Given the description of an element on the screen output the (x, y) to click on. 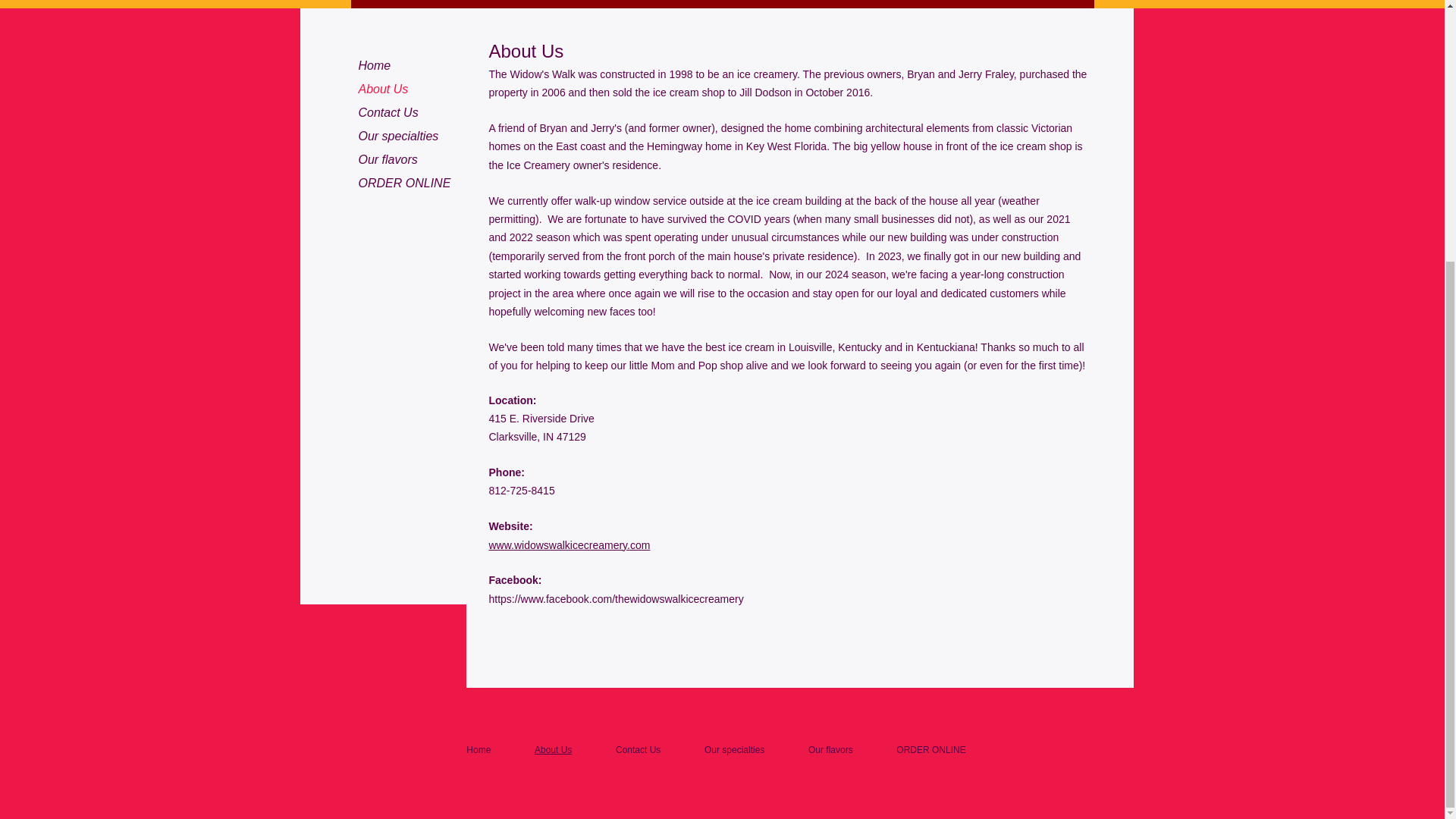
About Us (553, 749)
Our specialties (734, 749)
Home (373, 65)
www.widowswalkicecreamery.com (568, 544)
Home (478, 749)
ORDER ONLINE (404, 183)
Contact Us (638, 749)
Contact Us (387, 112)
ORDER ONLINE (931, 749)
Our specialties (397, 136)
